Given the description of an element on the screen output the (x, y) to click on. 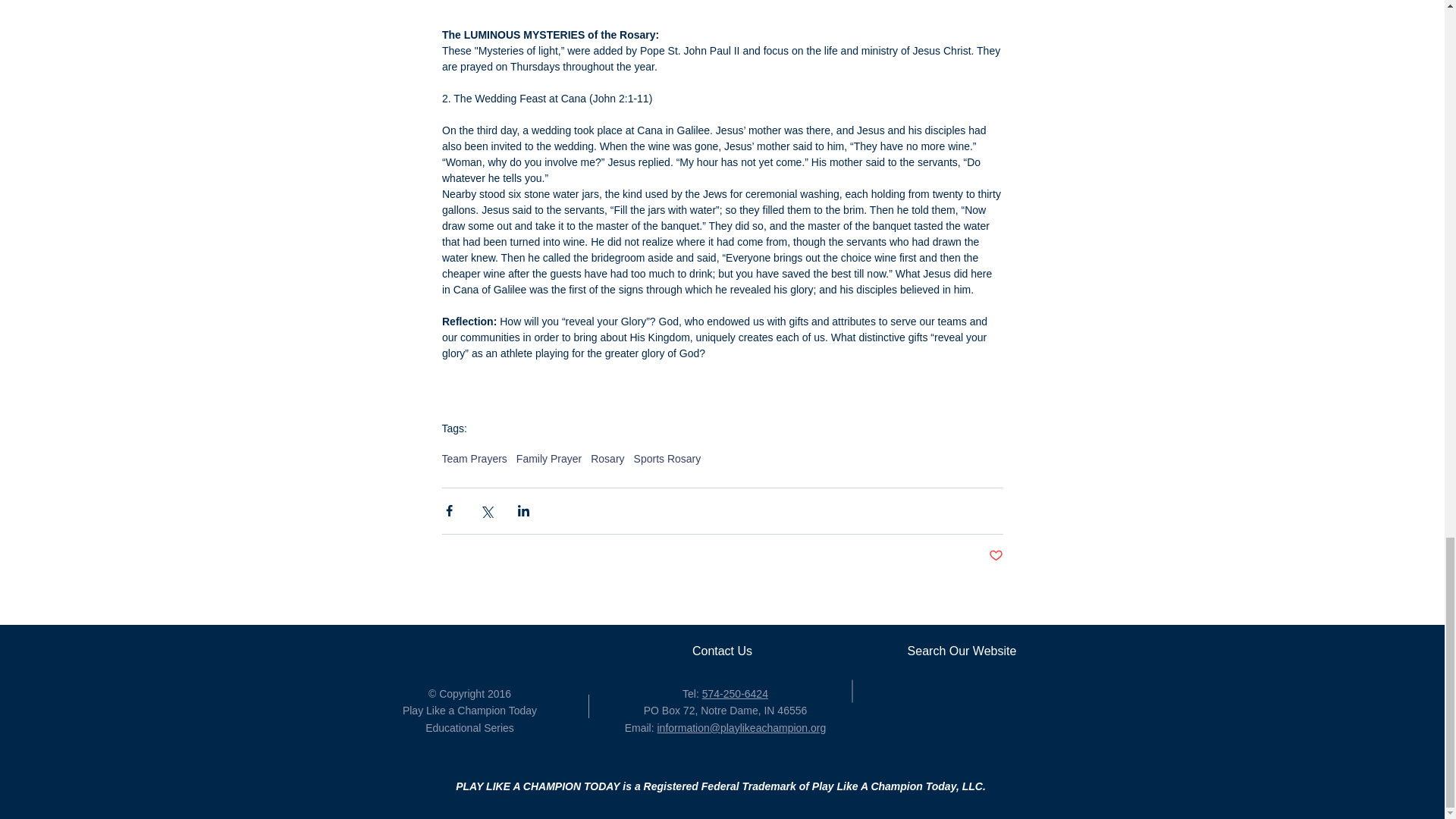
574-250-6424 (734, 693)
Team Prayers (473, 458)
Post not marked as liked (995, 555)
Sports Rosary (667, 458)
Rosary (607, 458)
Family Prayer (548, 458)
